Given the description of an element on the screen output the (x, y) to click on. 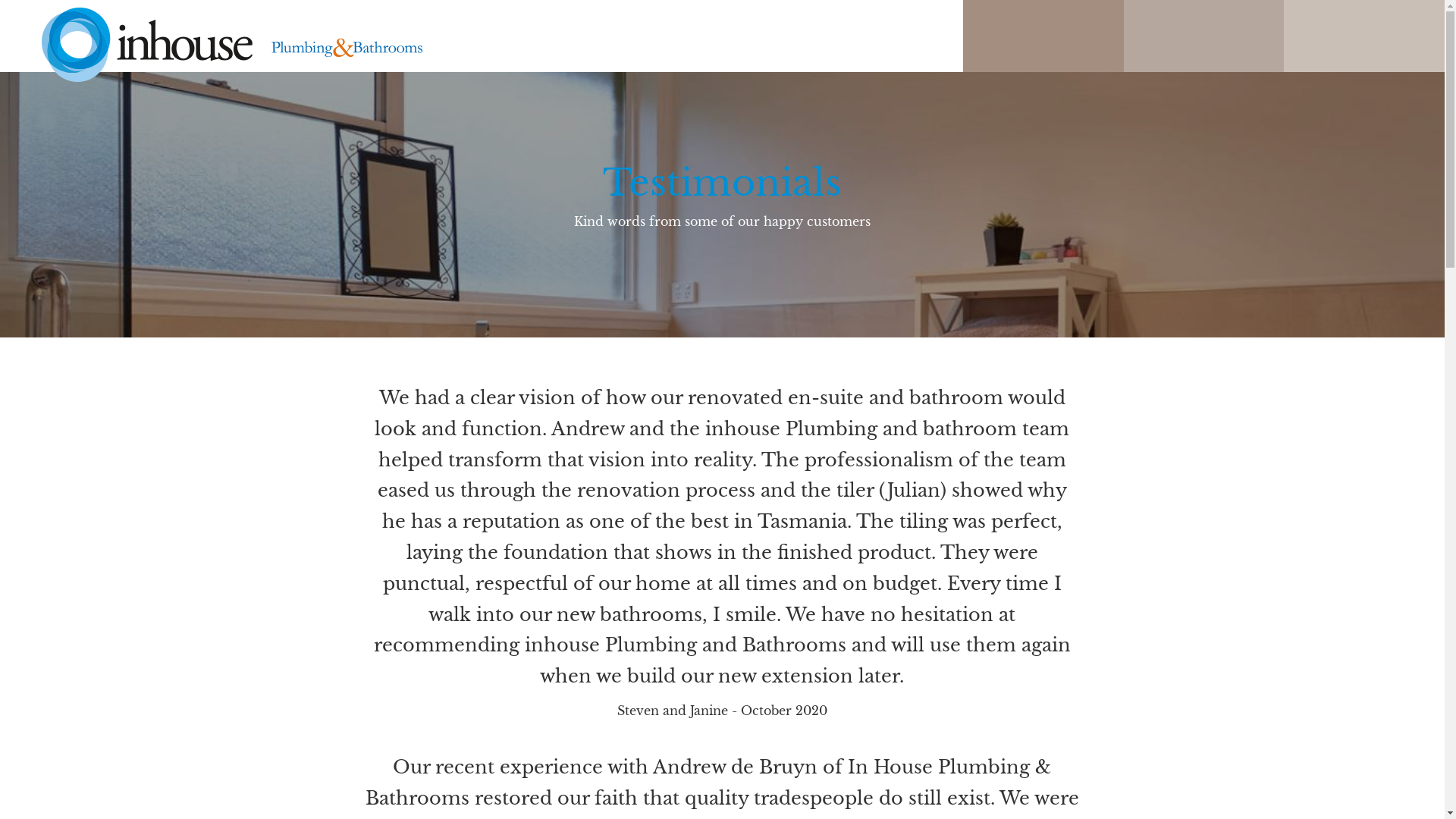
See gallery Element type: text (1203, 2)
Inhouse Plumbing & Bathrooms Element type: hover (496, 44)
Contact Element type: text (1363, 2)
Menu Element type: text (1043, 2)
